Given the description of an element on the screen output the (x, y) to click on. 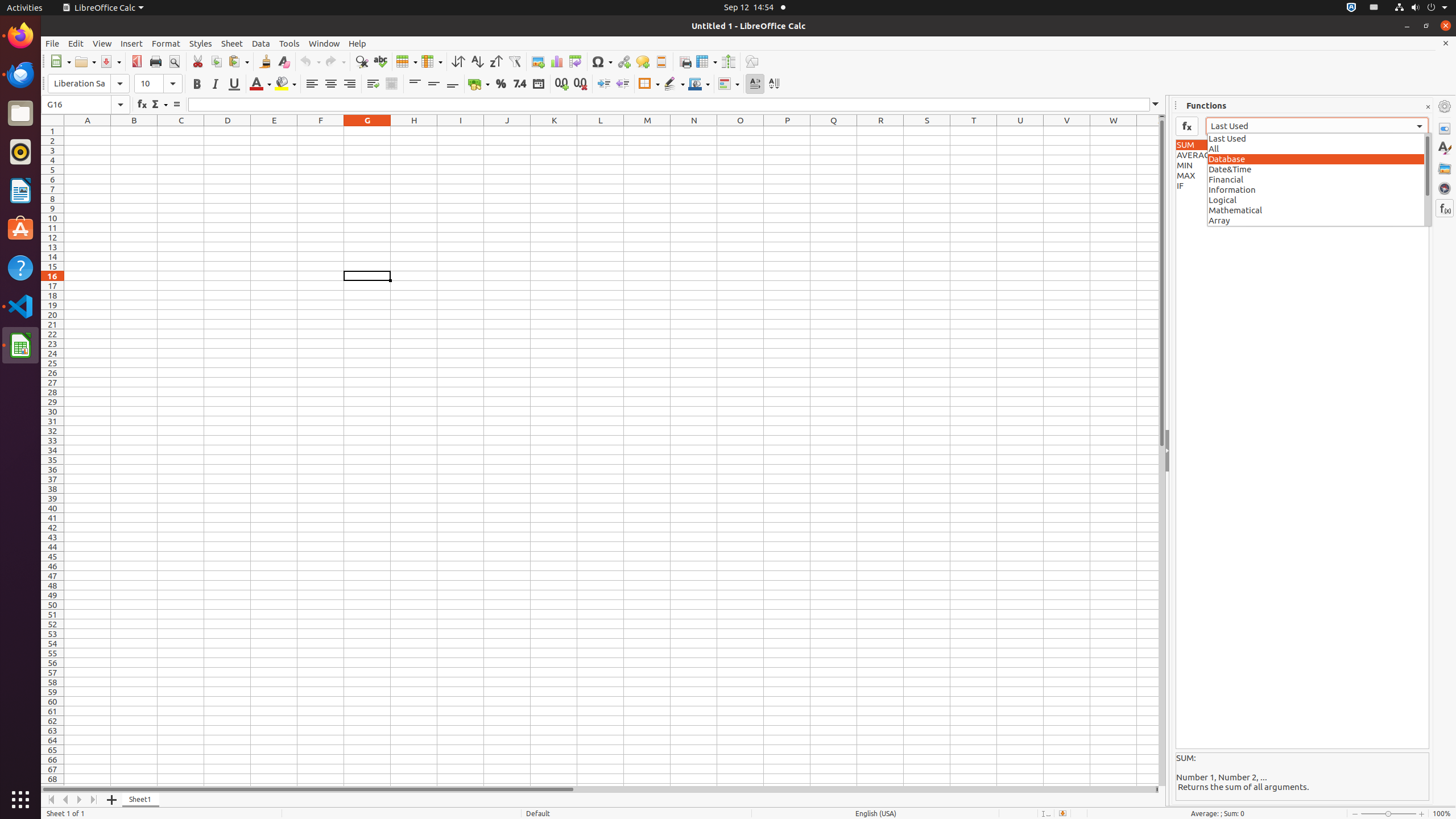
Borders (Shift to overwrite) Element type: push-button (648, 83)
System Element type: menu (1420, 7)
MIN Element type: list-item (1302, 165)
Print Preview Element type: toggle-button (173, 61)
Align Bottom Element type: push-button (452, 83)
